Given the description of an element on the screen output the (x, y) to click on. 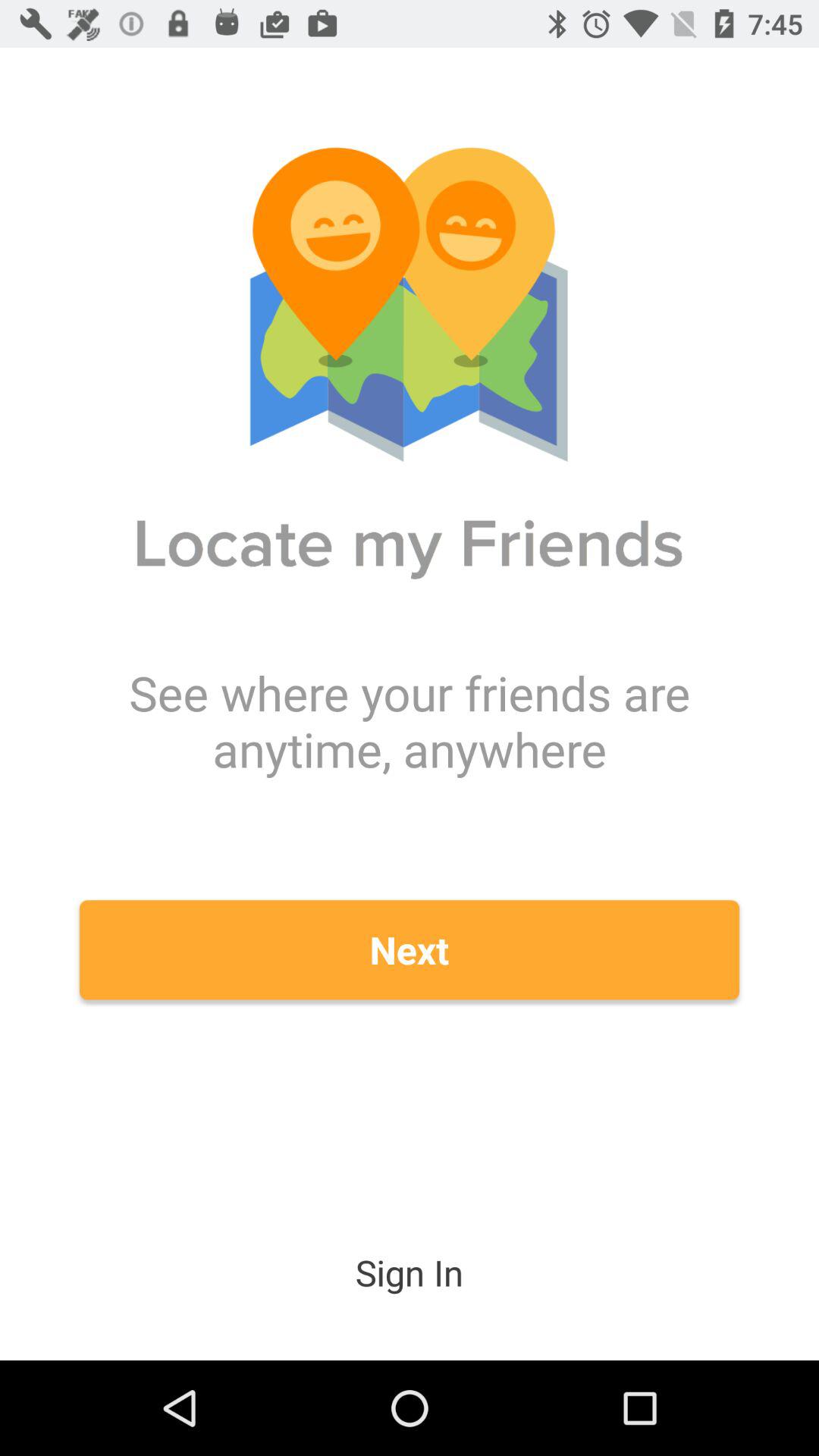
press icon below the see where your icon (409, 949)
